Given the description of an element on the screen output the (x, y) to click on. 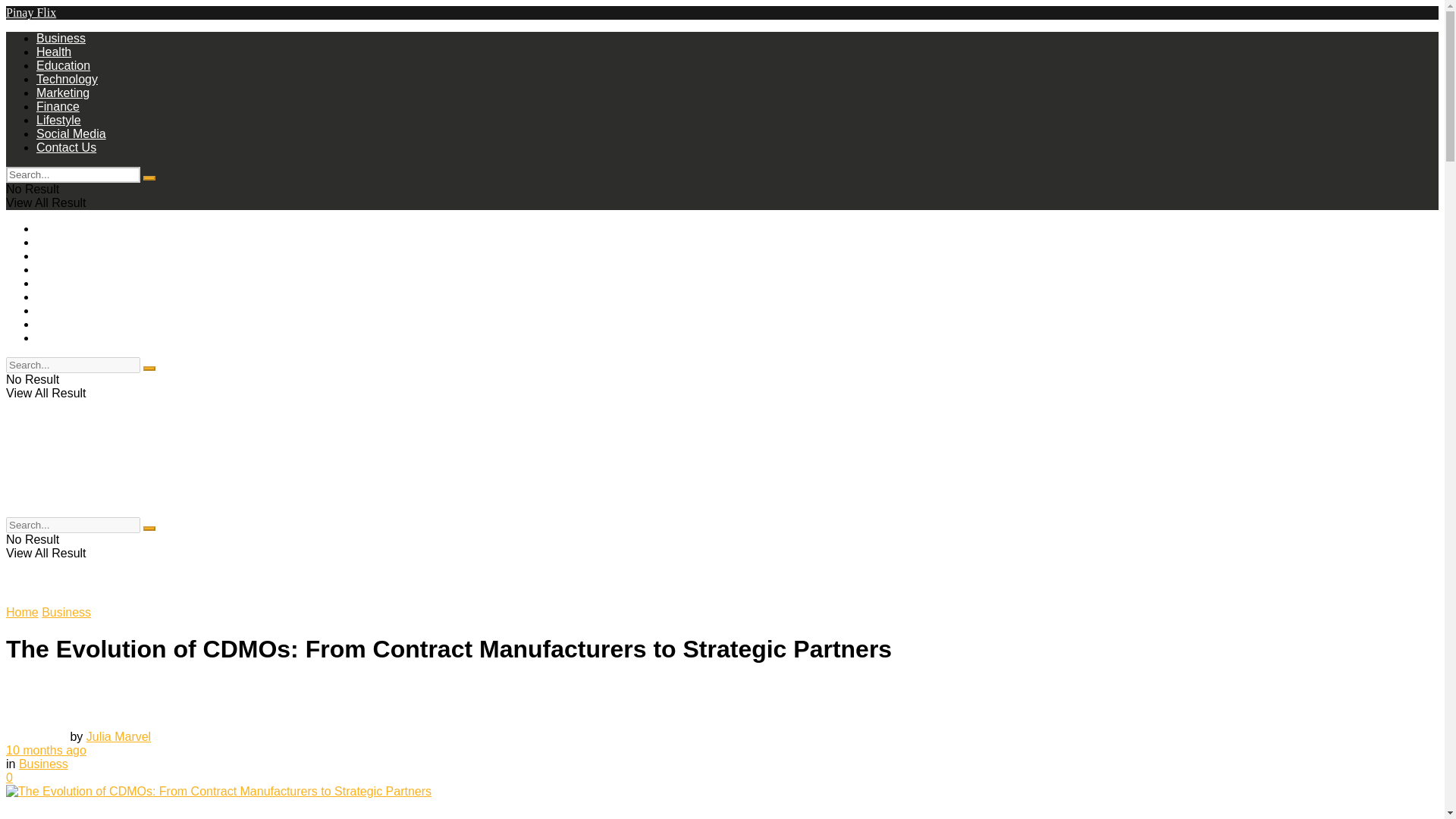
Business (60, 38)
Education (63, 255)
Marketing (62, 92)
Health (53, 241)
Finance (58, 296)
Health (53, 51)
Business (66, 612)
Home (22, 612)
Marketing (62, 282)
Technology (66, 269)
